Given the description of an element on the screen output the (x, y) to click on. 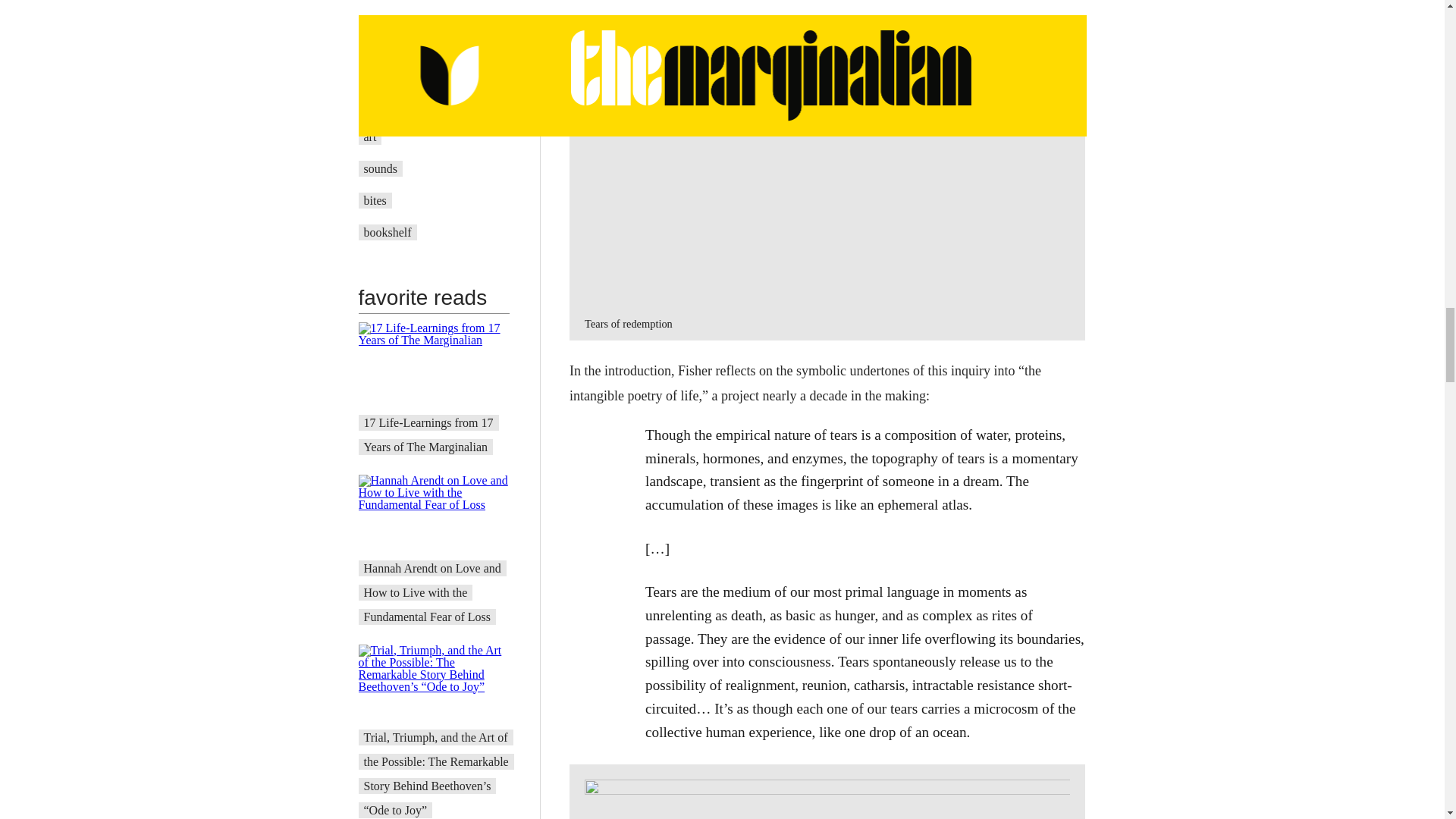
sounds (380, 168)
bites (375, 200)
A Velocity of Being (412, 105)
